Given the description of an element on the screen output the (x, y) to click on. 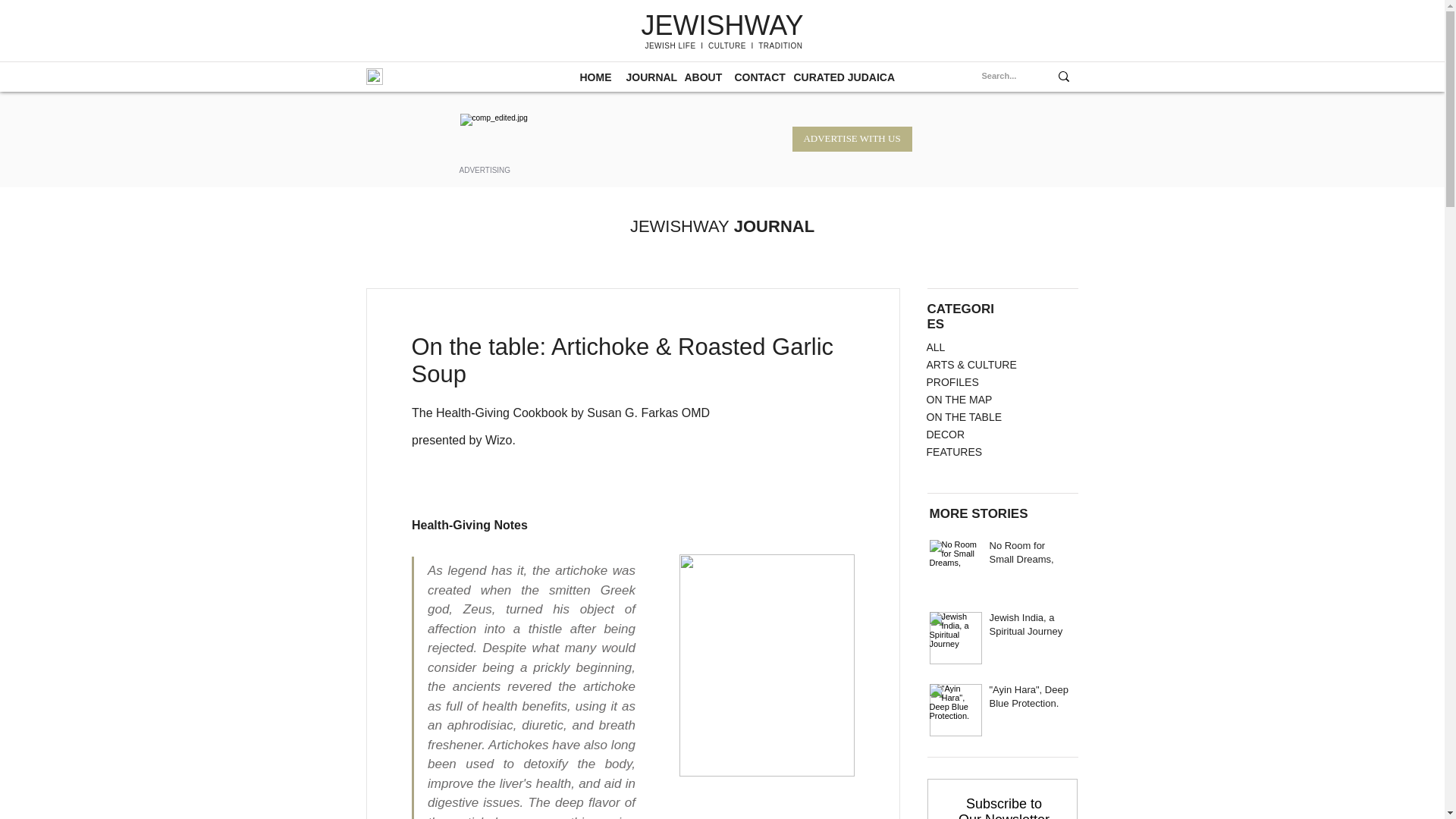
JEWISHWAY (679, 226)
DECOR (986, 434)
PROFILES (986, 382)
JOURNAL (643, 76)
ABOUT (697, 76)
ON THE TABLE (986, 416)
ADVERTISE WITH US (851, 138)
CONTACT (753, 76)
HOME (591, 76)
ON THE MAP (986, 399)
CATEGORIES (959, 316)
JOURNAL (771, 226)
JEWISHWAY (721, 24)
ALL (986, 347)
CURATED JUDAICA (829, 76)
